Given the description of an element on the screen output the (x, y) to click on. 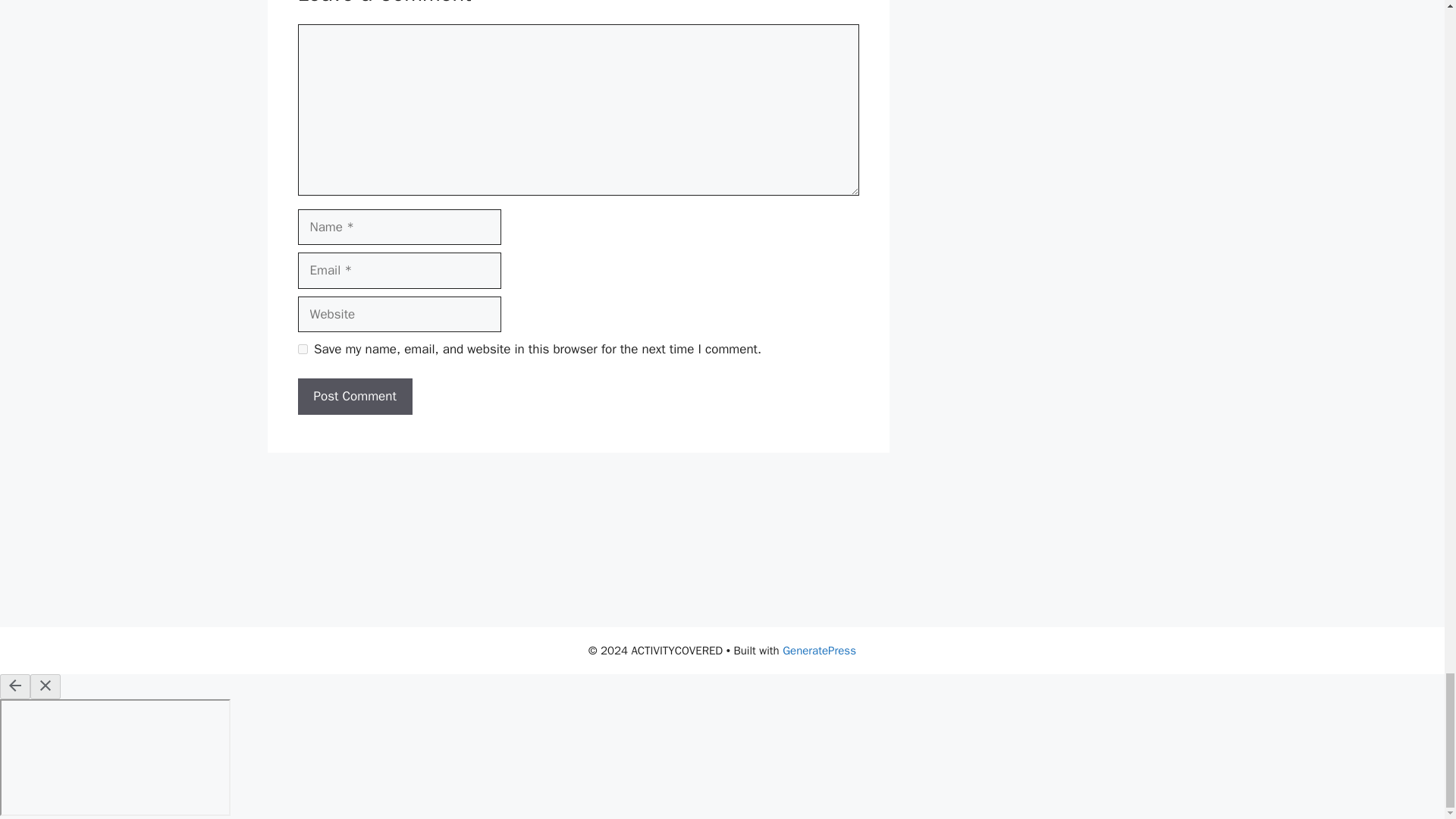
yes (302, 348)
Post Comment (354, 396)
Post Comment (354, 396)
